Given the description of an element on the screen output the (x, y) to click on. 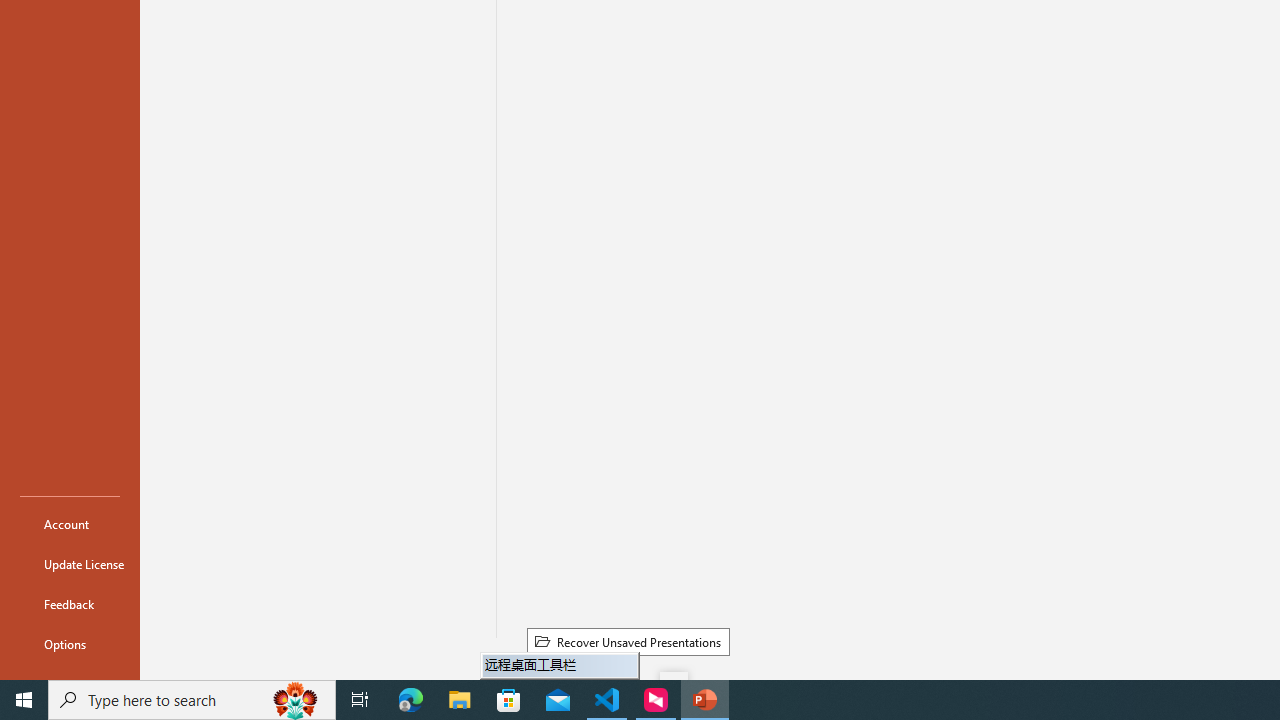
Feedback (69, 603)
Account (69, 523)
Options (69, 643)
Update License (69, 563)
Recover Unsaved Presentations (628, 641)
